Given the description of an element on the screen output the (x, y) to click on. 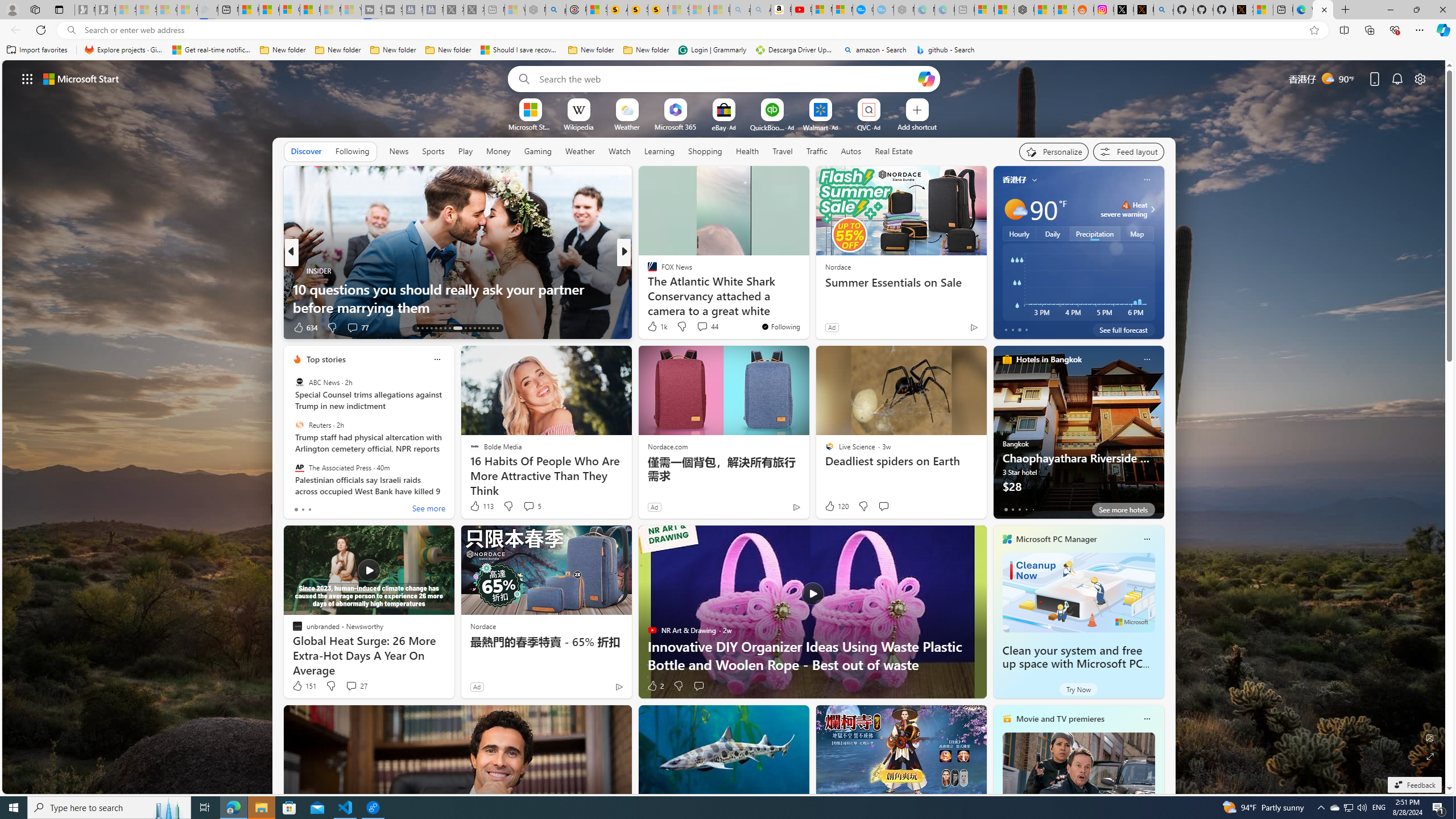
Log in to X / X (1123, 9)
Travel (782, 151)
5 Like (651, 327)
Page settings (1420, 78)
View comments 4 Comment (698, 327)
AutomationID: tab-28 (492, 328)
Health (746, 151)
Movie and TV premieres (1060, 718)
Search icon (70, 29)
Add a site (916, 126)
